Given the description of an element on the screen output the (x, y) to click on. 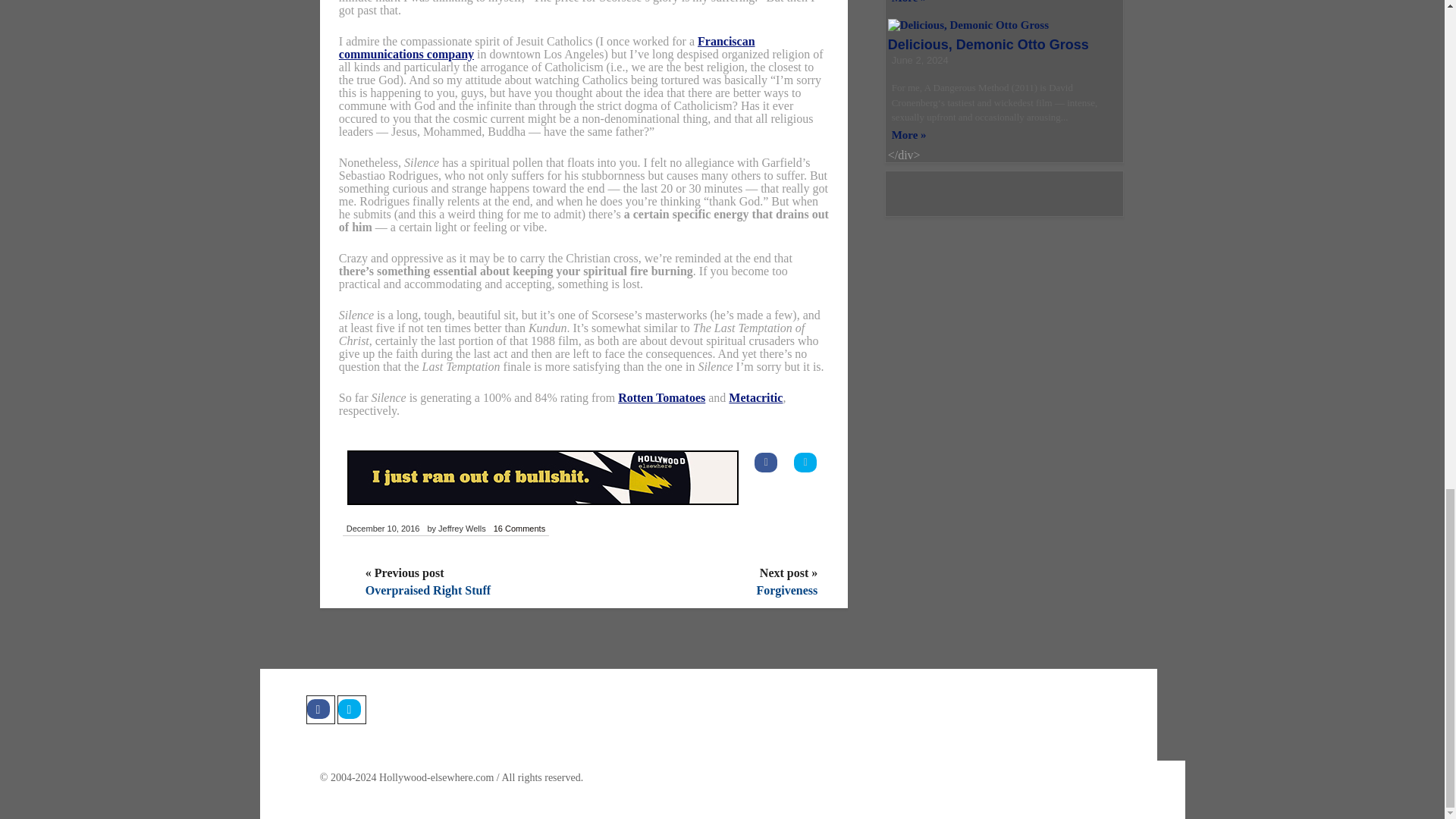
Twitter (350, 709)
Rotten Tomatoes (660, 397)
16 Comments (518, 529)
Franciscan communications company (547, 47)
Facebook (319, 709)
by Jeffrey Wells (456, 529)
Metacritic (756, 397)
December 10, 2016 (382, 529)
